Given the description of an element on the screen output the (x, y) to click on. 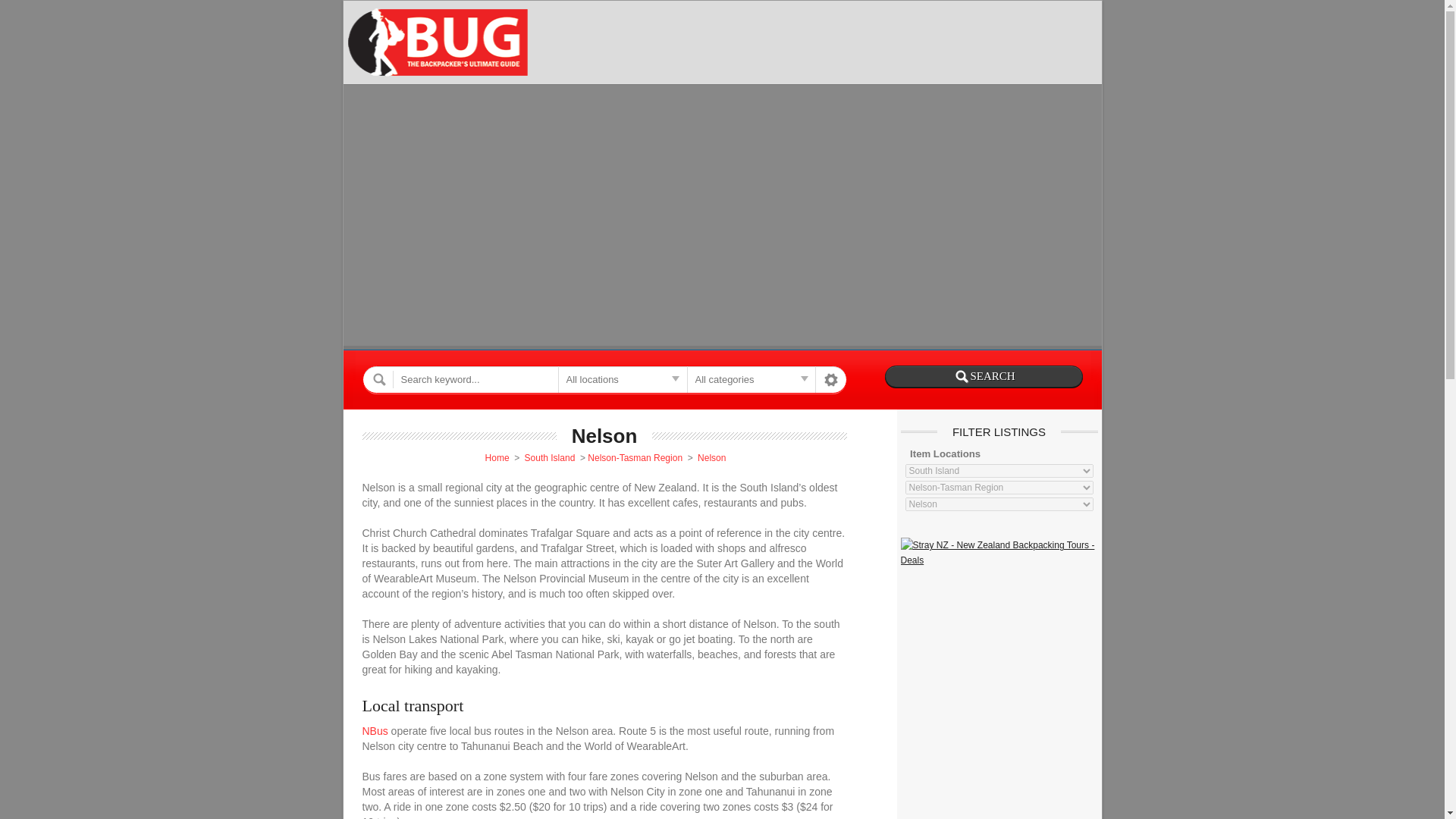
Search (982, 376)
Nelson (711, 457)
Search (982, 376)
Search (982, 376)
Nelson-Tasman Region (635, 457)
South Island (549, 457)
Home (496, 457)
NBus (375, 730)
